Given the description of an element on the screen output the (x, y) to click on. 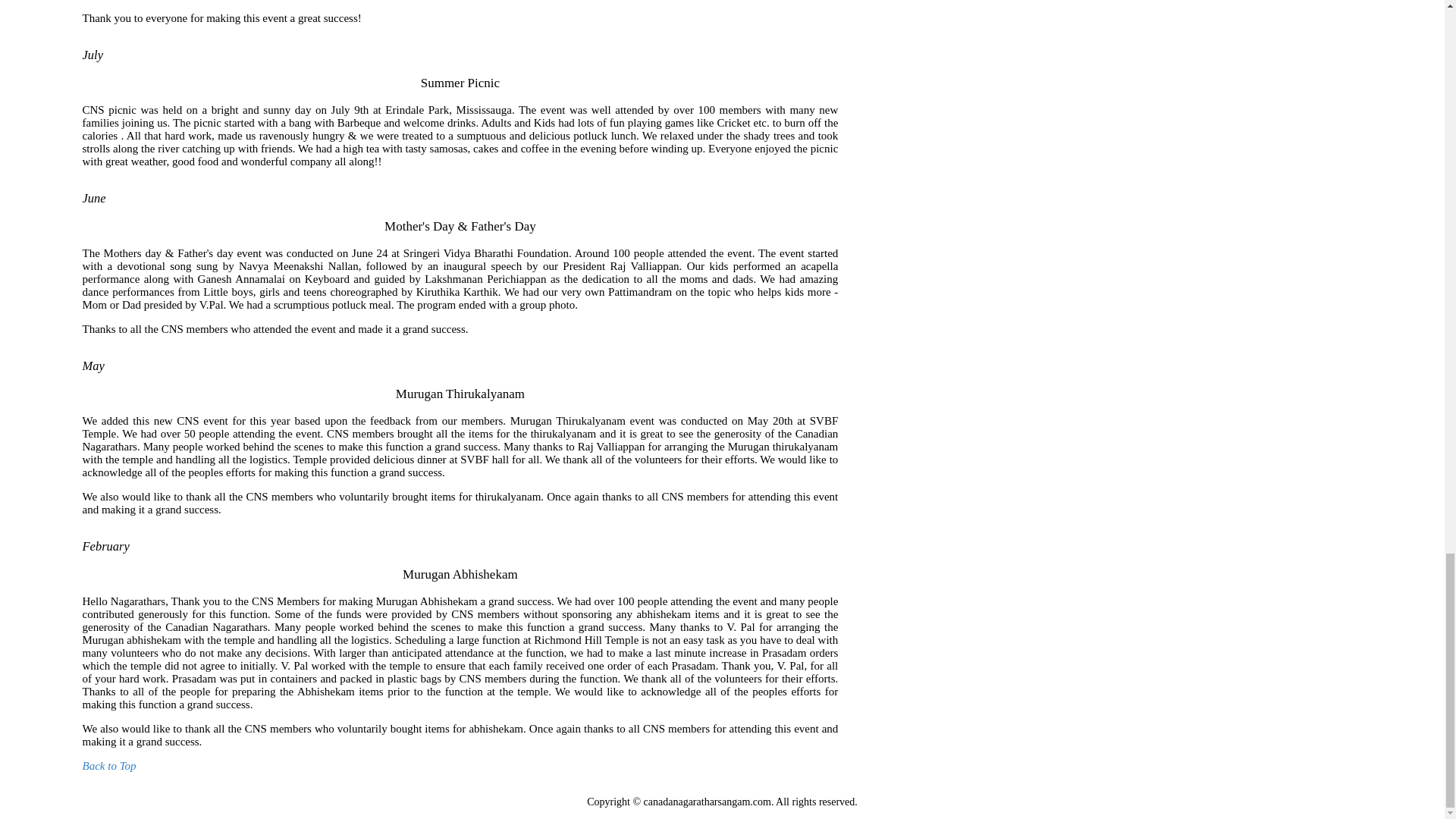
Back to Top (108, 766)
